Given the description of an element on the screen output the (x, y) to click on. 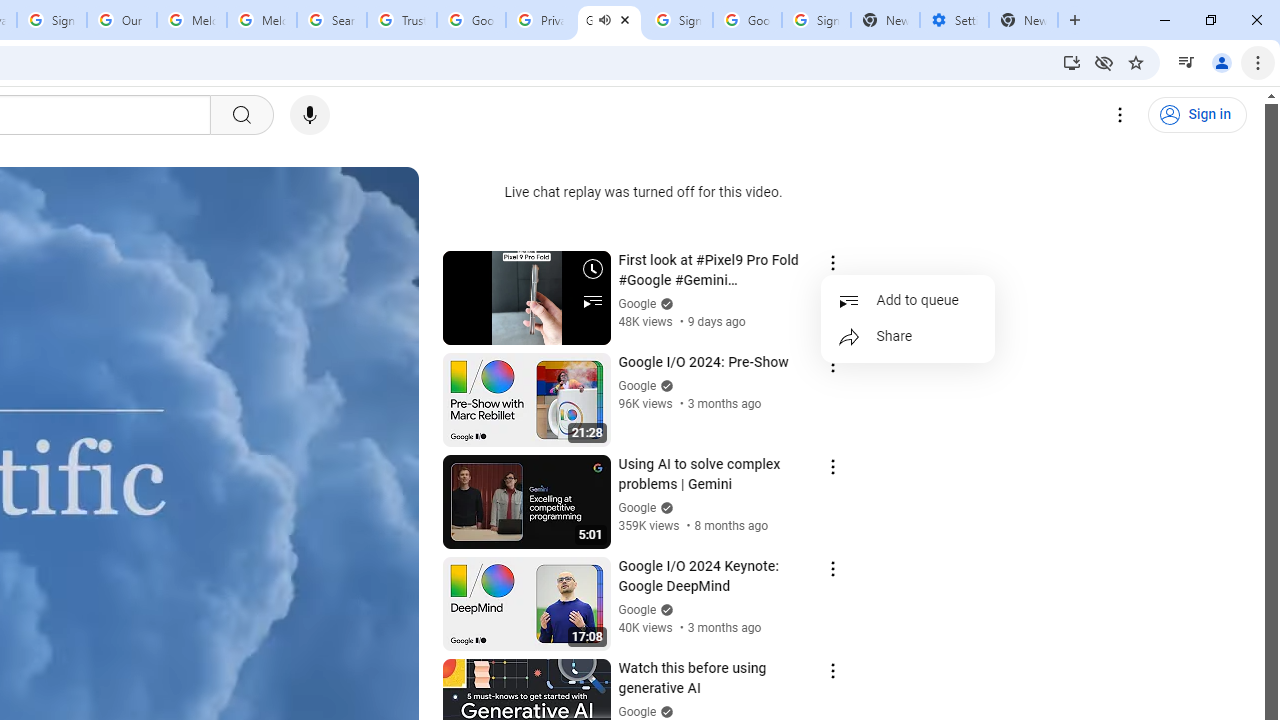
Share (907, 336)
Settings - Addresses and more (954, 20)
Sign in - Google Accounts (677, 20)
Install YouTube (1071, 62)
Trusted Information and Content - Google Safety Center (401, 20)
Sign in - Google Accounts (816, 20)
Search our Doodle Library Collection - Google Doodles (332, 20)
Google Cybersecurity Innovations - Google Safety Center (747, 20)
Search with your voice (309, 115)
